Given the description of an element on the screen output the (x, y) to click on. 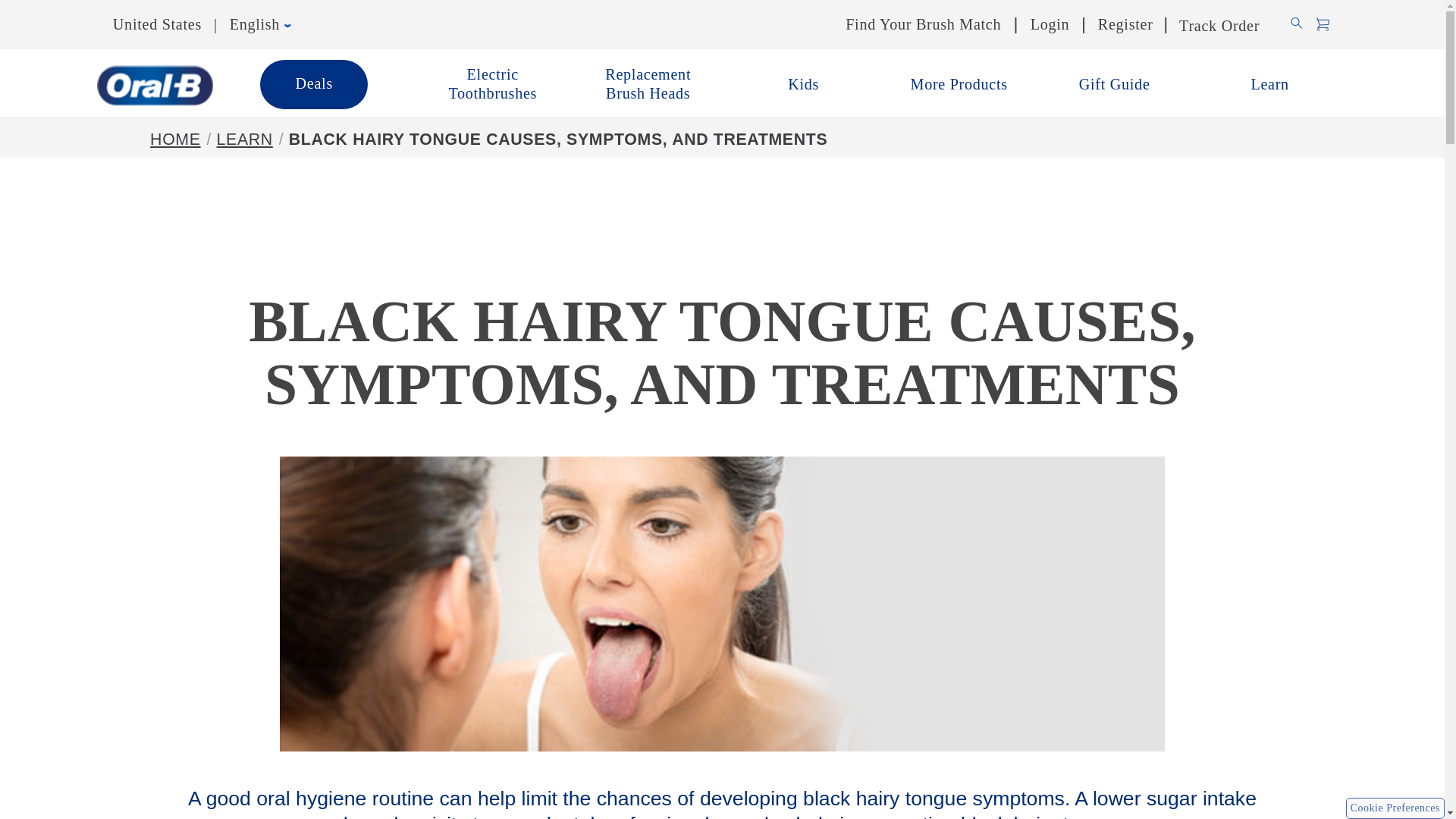
Track Order (1221, 24)
Replacement Brush Heads (647, 84)
Gift Guide (1114, 84)
Oral-B (155, 85)
Electric Toothbrushes (492, 84)
Learn (1270, 84)
Login (1050, 24)
Deals (313, 83)
Register (1125, 24)
Find Your Brush Match (923, 24)
More Products (958, 84)
Kids (802, 84)
